Given the description of an element on the screen output the (x, y) to click on. 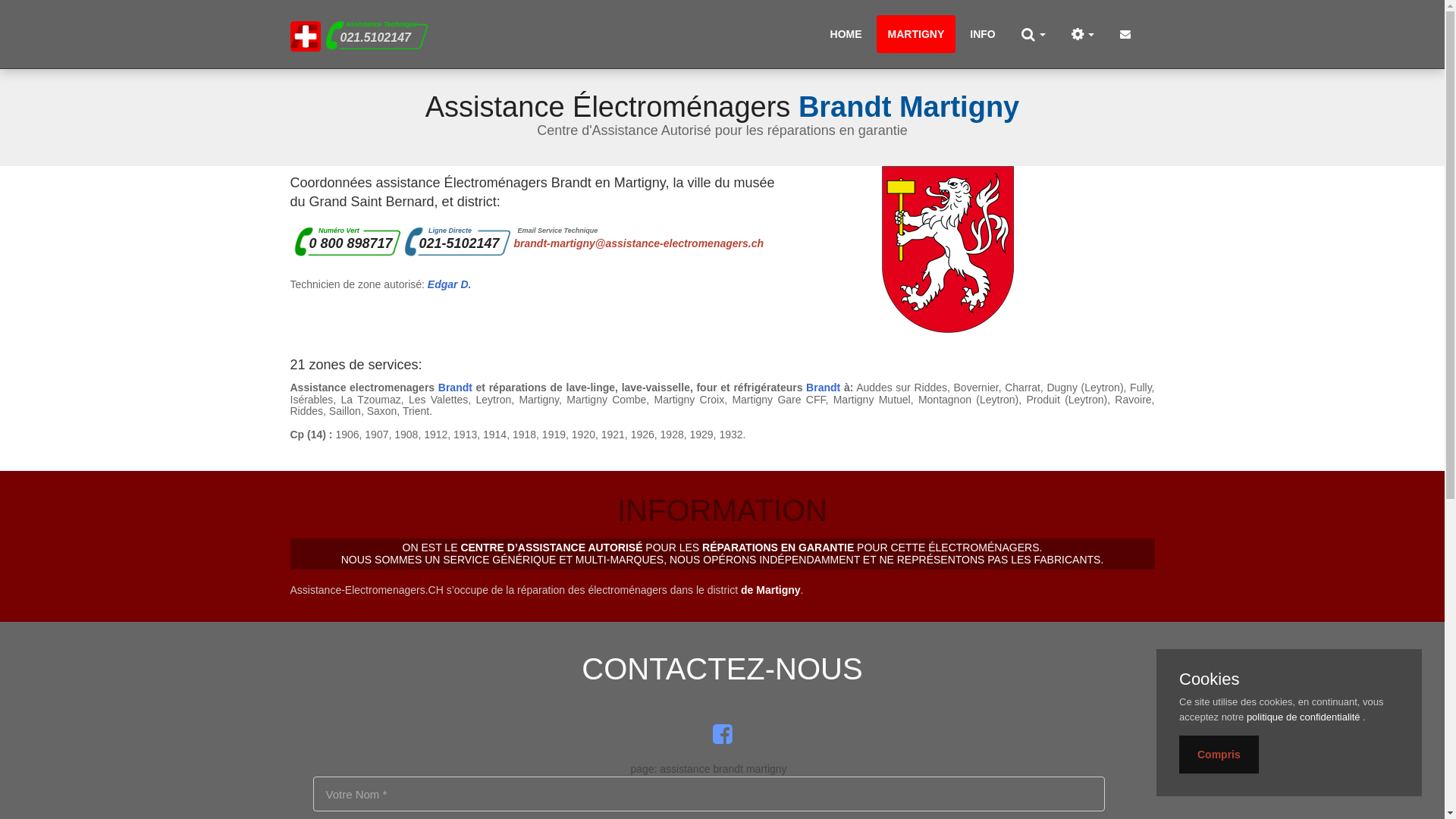
0 800 898717 Element type: text (350, 243)
Contact Element type: hover (1125, 34)
Brandt Suisse - Service assistance Martigny Element type: hover (304, 34)
Cherche Element type: hover (1033, 34)
021.5102147 Element type: text (374, 37)
INFO Element type: text (982, 34)
HOME Element type: text (846, 34)
questions techniques Element type: hover (1082, 34)
Compris Element type: text (1218, 754)
MARTIGNY Element type: text (916, 34)
021-5102147 Element type: text (458, 243)
suivez-nous sur facebook Element type: hover (721, 733)
brandt-martigny@assistance-electromenagers.ch Element type: text (639, 243)
